Given the description of an element on the screen output the (x, y) to click on. 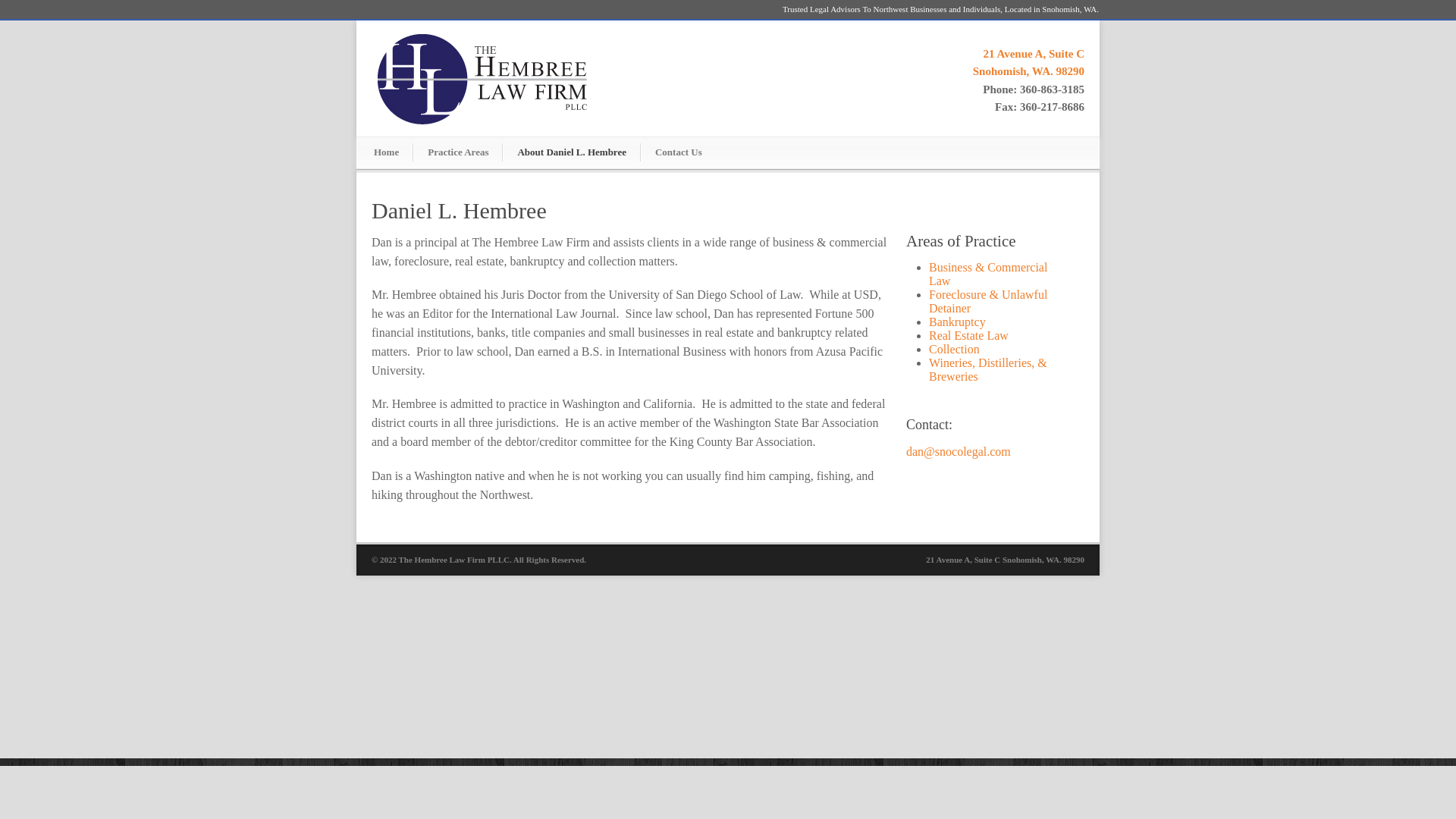
Bankruptcy (956, 321)
Practice Areas (1028, 61)
Collection (457, 152)
Bankruptcy (953, 349)
Home (956, 321)
Collection Services (386, 152)
Real Estate Law (953, 349)
Contact Us (968, 335)
About Daniel L. Hembree (678, 152)
